Given the description of an element on the screen output the (x, y) to click on. 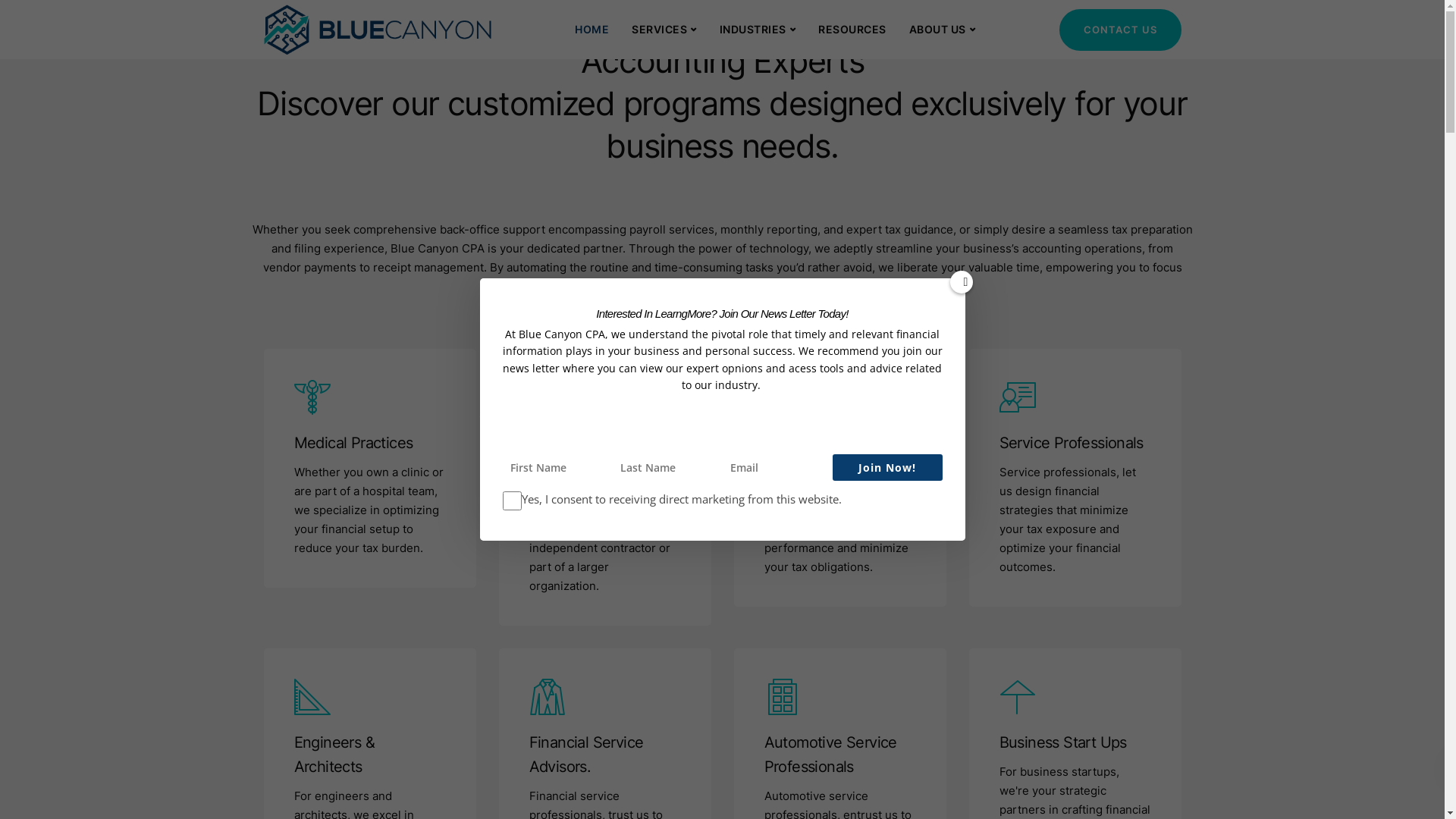
ABOUT US Element type: text (942, 29)
SERVICES Element type: text (664, 29)
RESOURCES Element type: text (851, 29)
Join Now! Element type: text (887, 467)
HOME Element type: text (591, 29)
INDUSTRIES Element type: text (757, 29)
CONTACT US Element type: text (1119, 29)
